Given the description of an element on the screen output the (x, y) to click on. 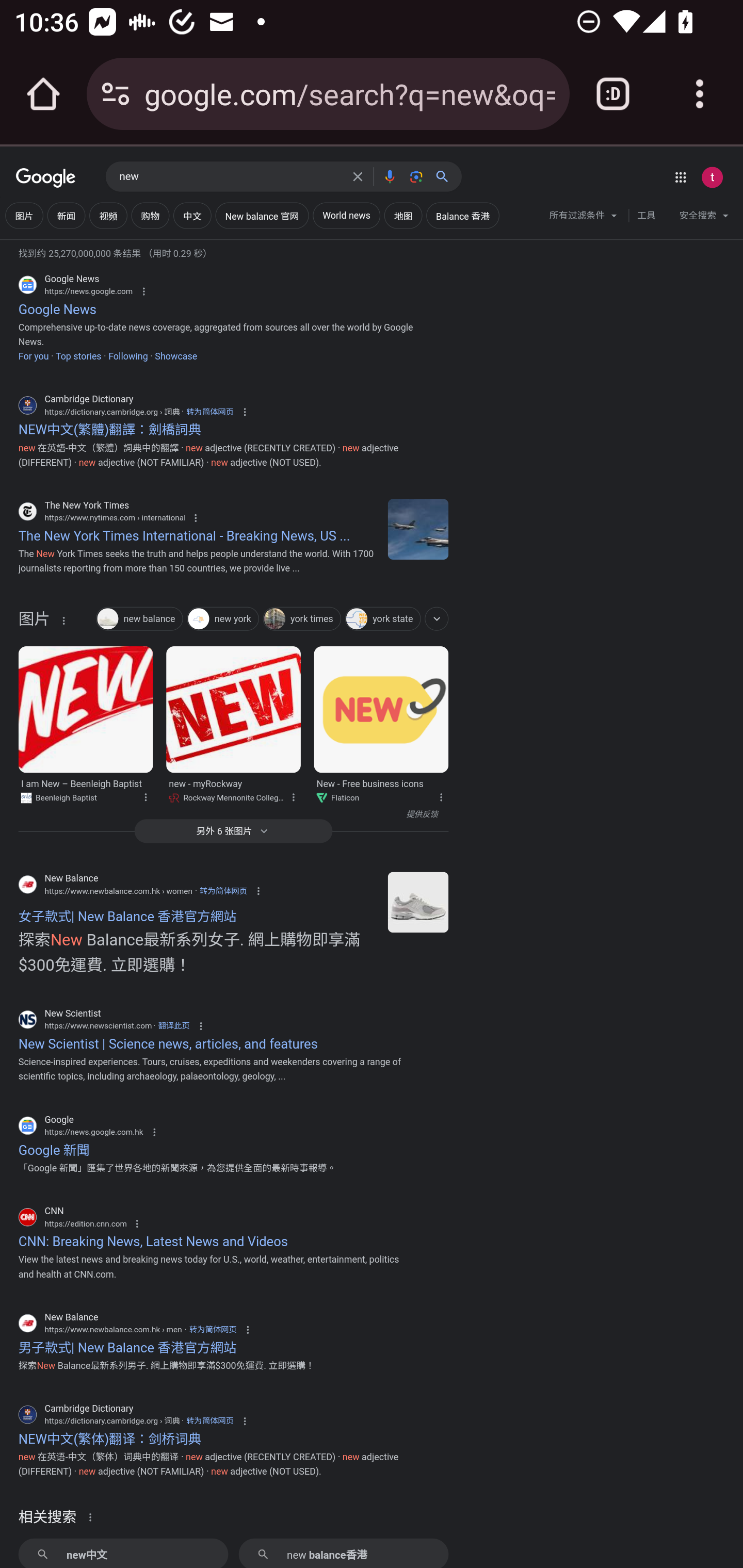
Open the home page (43, 93)
Connection is secure (115, 93)
Switch or close tabs (612, 93)
Customize and control Google Chrome (699, 93)
清除 (357, 176)
按语音搜索 (389, 176)
按图搜索 (415, 176)
搜索 (446, 176)
Google 应用 (680, 176)
Google 账号： test appium (testappium002@gmail.com) (712, 176)
Google (45, 178)
new (229, 177)
图片 (24, 215)
新闻 (65, 215)
视频 (107, 215)
购物 (149, 215)
添加“中文” 中文 (191, 215)
添加“New balance 官网” New balance 官网 (261, 215)
添加“World news” World news (346, 215)
地图 (403, 215)
添加“Balance 香港” Balance 香港 (462, 215)
所有过滤条件 (583, 217)
工具 (646, 215)
安全搜索 (703, 217)
For you (33, 356)
Top stories (77, 356)
Following (127, 356)
Showcase (175, 356)
转为简体网页 (209, 411)
international (417, 528)
图片 (33, 623)
new balance (139, 620)
new york (222, 620)
york times (301, 620)
york state (382, 620)
按功能过滤 (436, 618)
关于这条结果的详细信息 (62, 620)
I am New – Beenleigh Baptist (85, 709)
new - myRockway (233, 709)
New - Free business icons (380, 709)
关于这条结果的详细信息 (145, 795)
关于这条结果的详细信息 (292, 795)
关于这条结果的详细信息 (440, 795)
提供反馈 (227, 814)
另外 6 张图片 (232, 830)
women (417, 901)
转为简体网页 (223, 890)
翻译此页 (173, 1025)
转为简体网页 (212, 1329)
转为简体网页 (209, 1420)
关于这条结果的详细信息 (93, 1516)
new中文 (122, 1553)
new balance香港 (343, 1553)
